Given the description of an element on the screen output the (x, y) to click on. 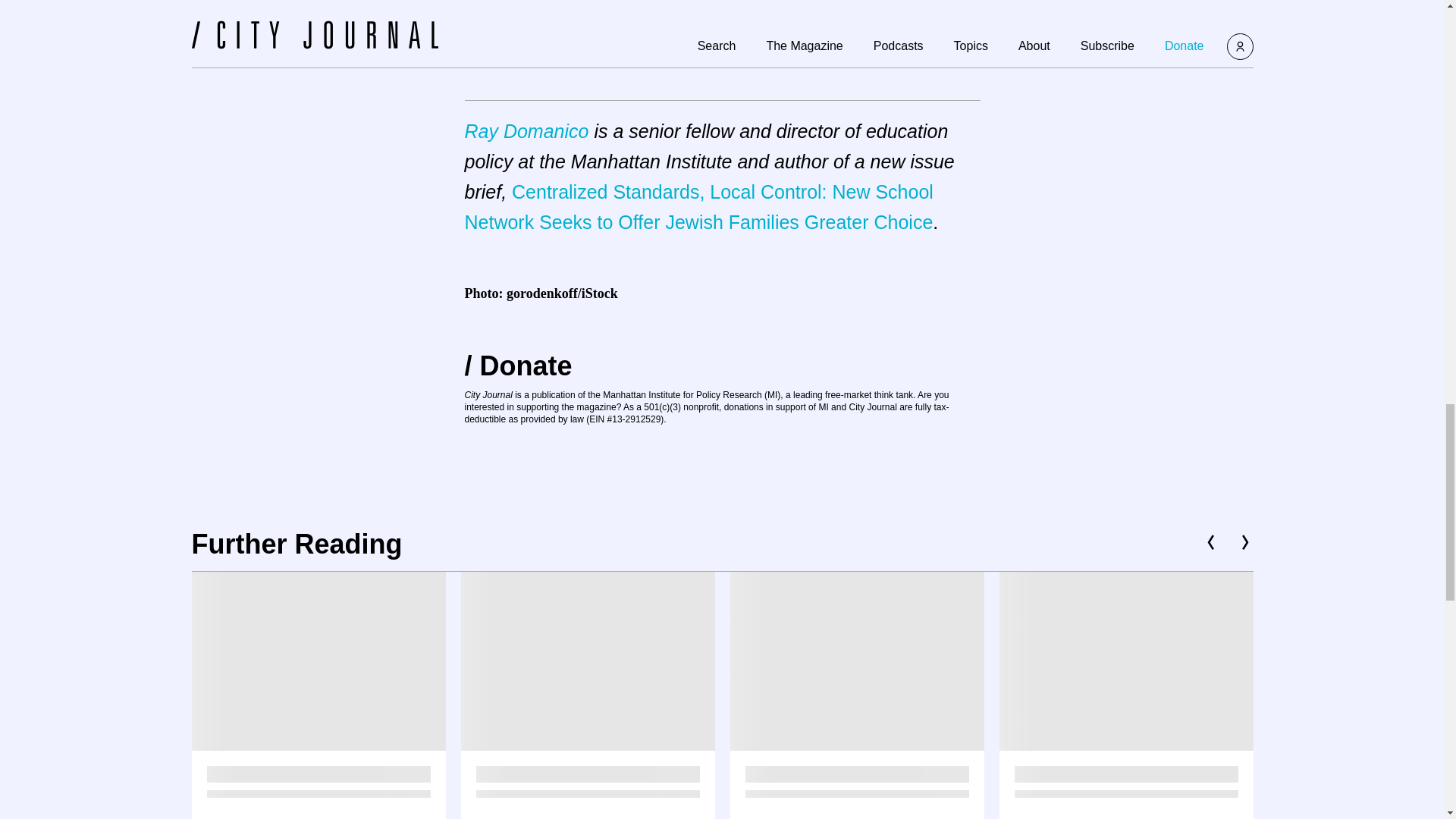
Donate (518, 365)
Ray Domanico (526, 130)
